Given the description of an element on the screen output the (x, y) to click on. 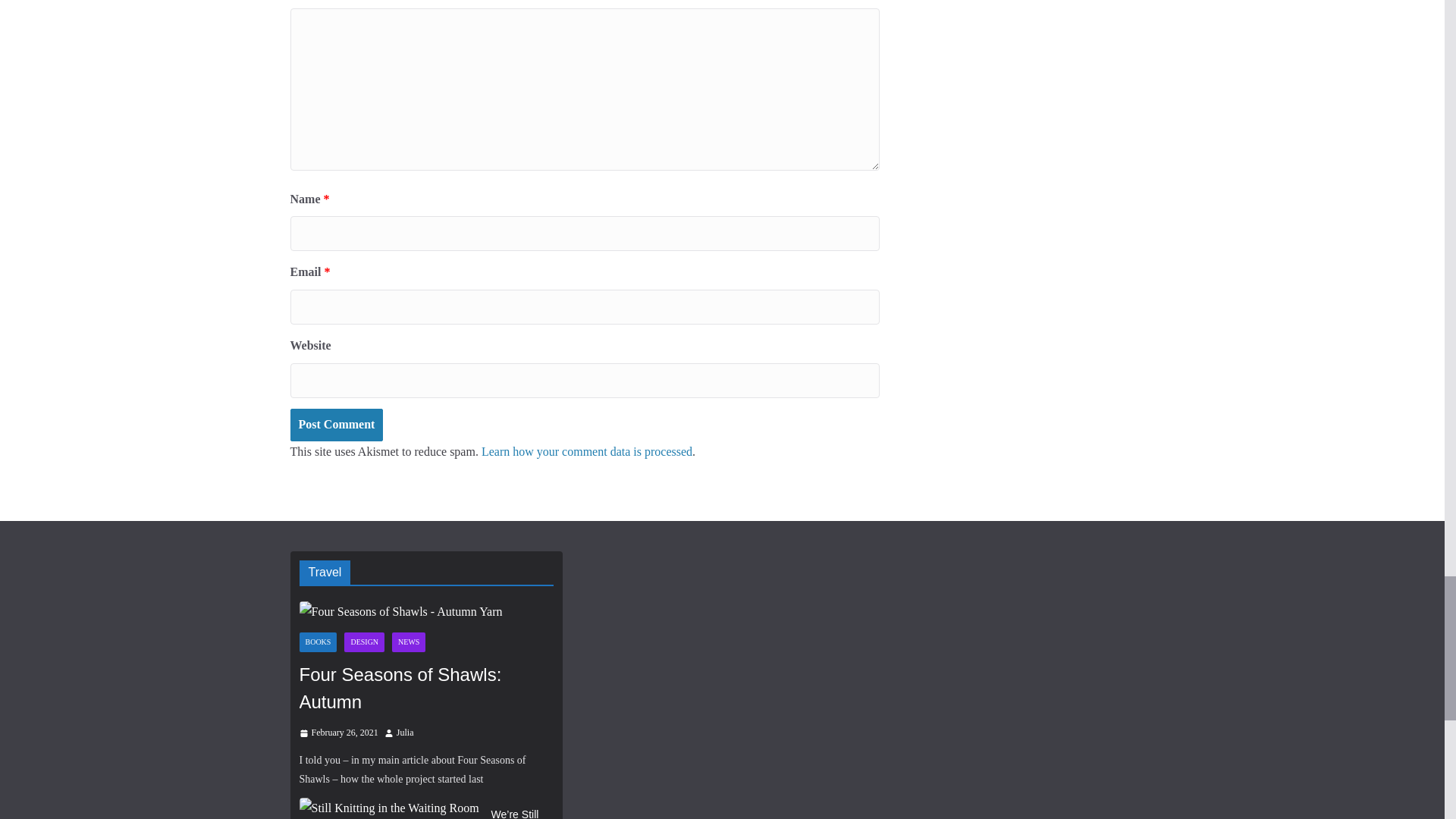
10:00 am (337, 733)
Four Seasons of Shawls: Autumn (400, 612)
Julia (404, 733)
Post Comment (335, 424)
Four Seasons of Shawls: Autumn (425, 612)
Four Seasons of Shawls: Autumn (425, 687)
